Given the description of an element on the screen output the (x, y) to click on. 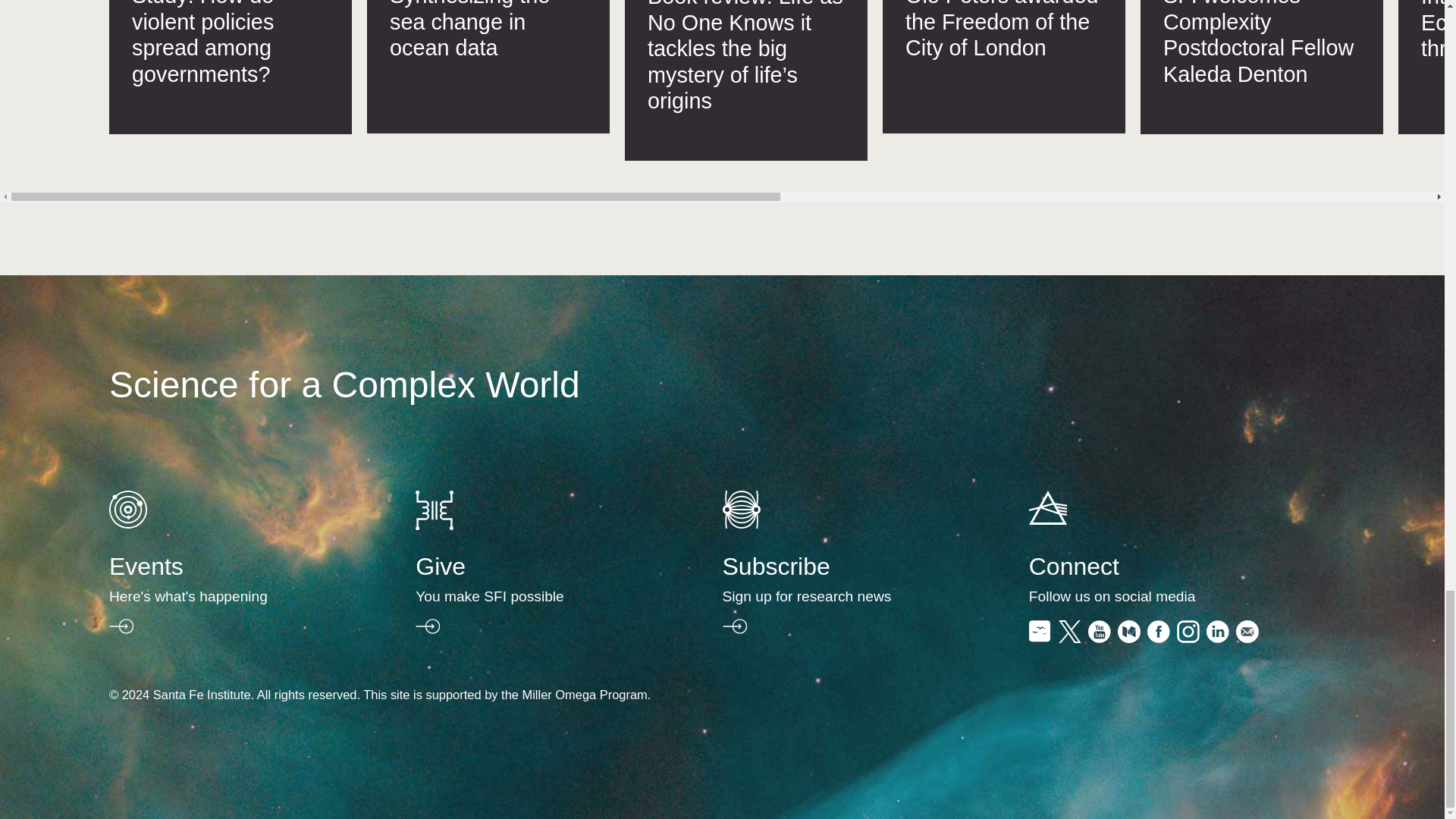
Give (433, 524)
youtube (1098, 637)
contact (1247, 637)
medium (1129, 637)
X (1069, 637)
facebook (1158, 637)
Events (227, 595)
Bluesky (1040, 637)
instagram (1187, 637)
Give (532, 595)
